Given the description of an element on the screen output the (x, y) to click on. 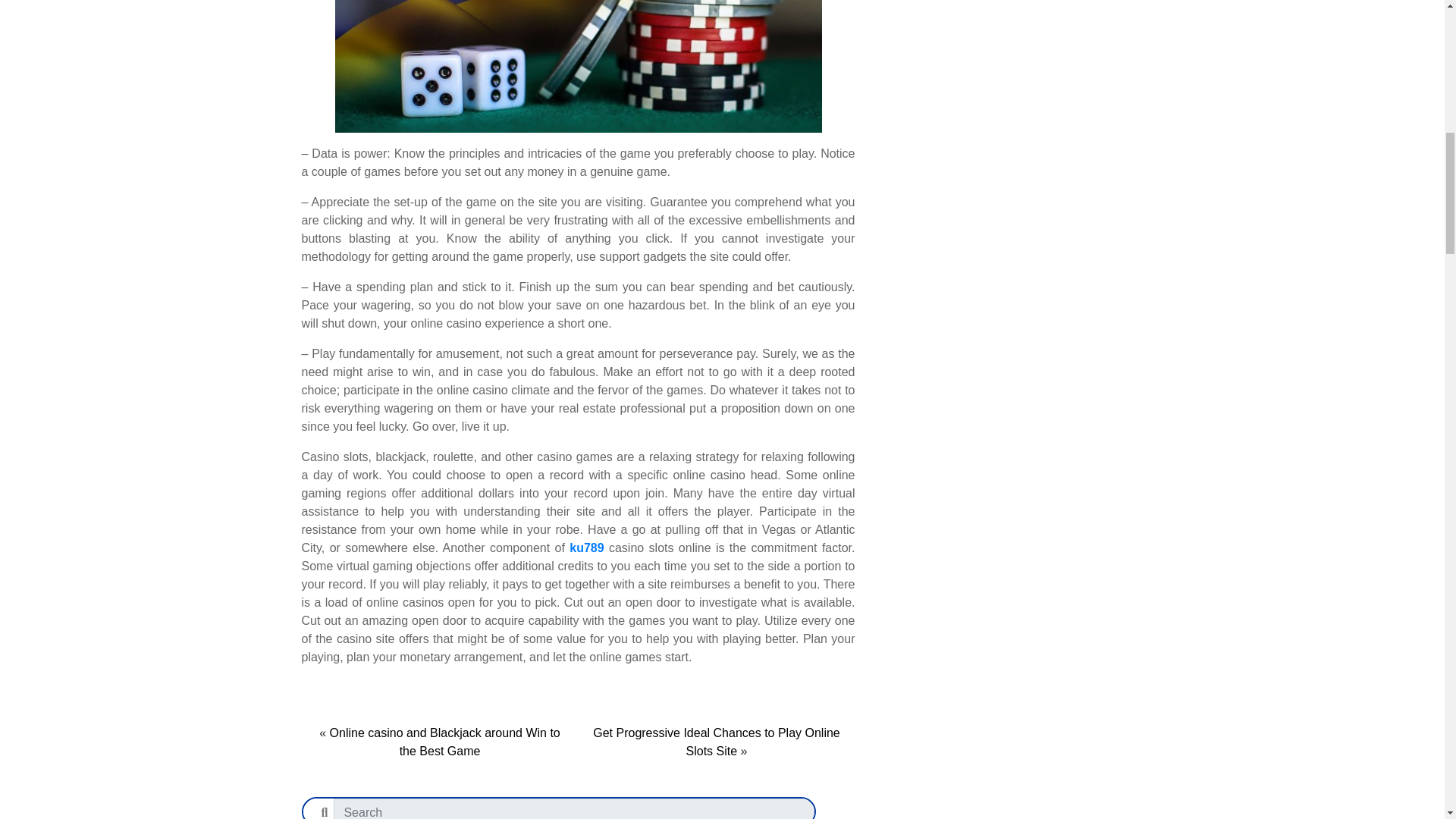
ku789 (586, 547)
Get Progressive Ideal Chances to Play Online Slots Site (716, 741)
Online casino and Blackjack around Win to the Best Game (445, 741)
